Given the description of an element on the screen output the (x, y) to click on. 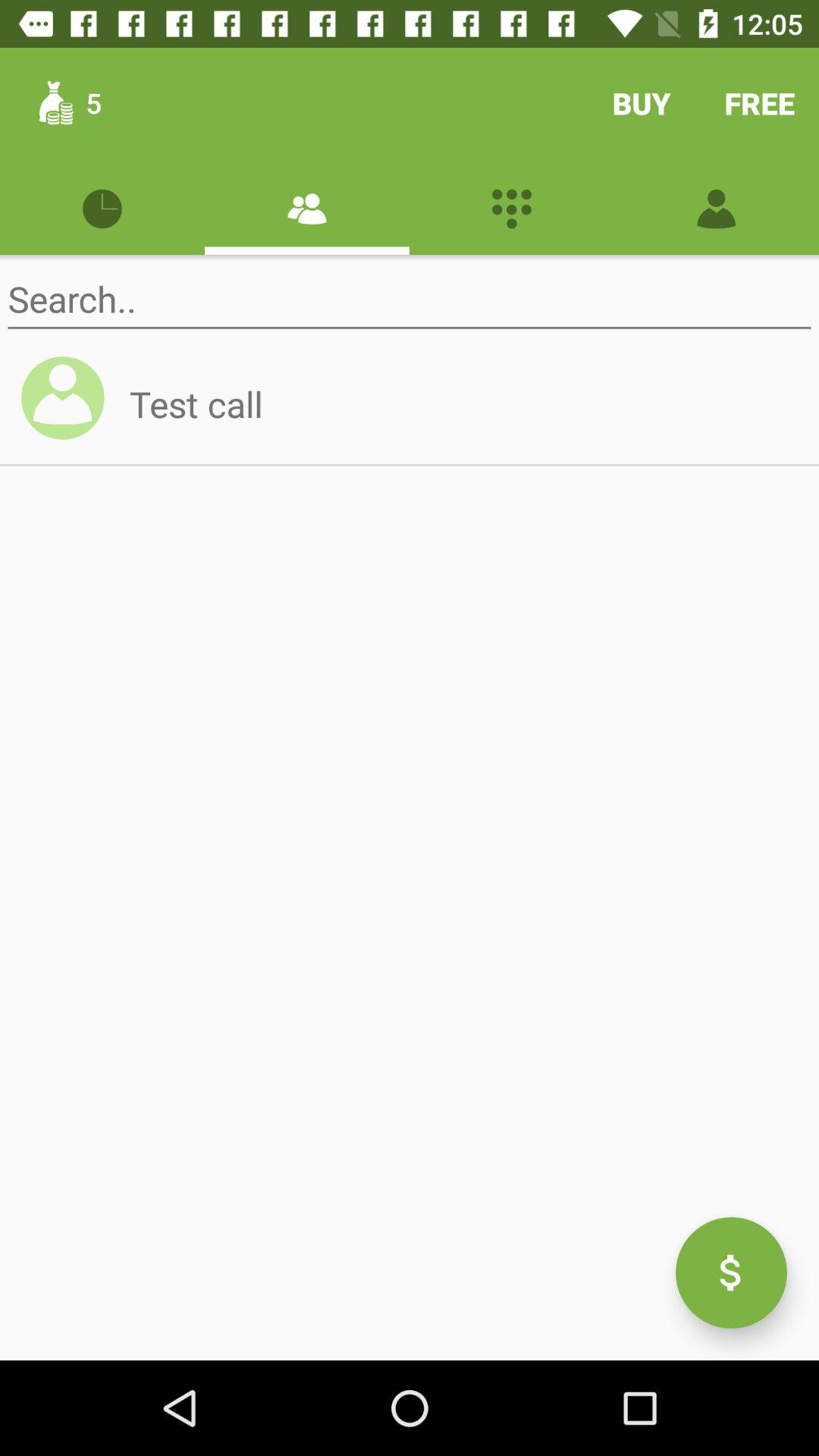
launch icon at the bottom right corner (731, 1272)
